Given the description of an element on the screen output the (x, y) to click on. 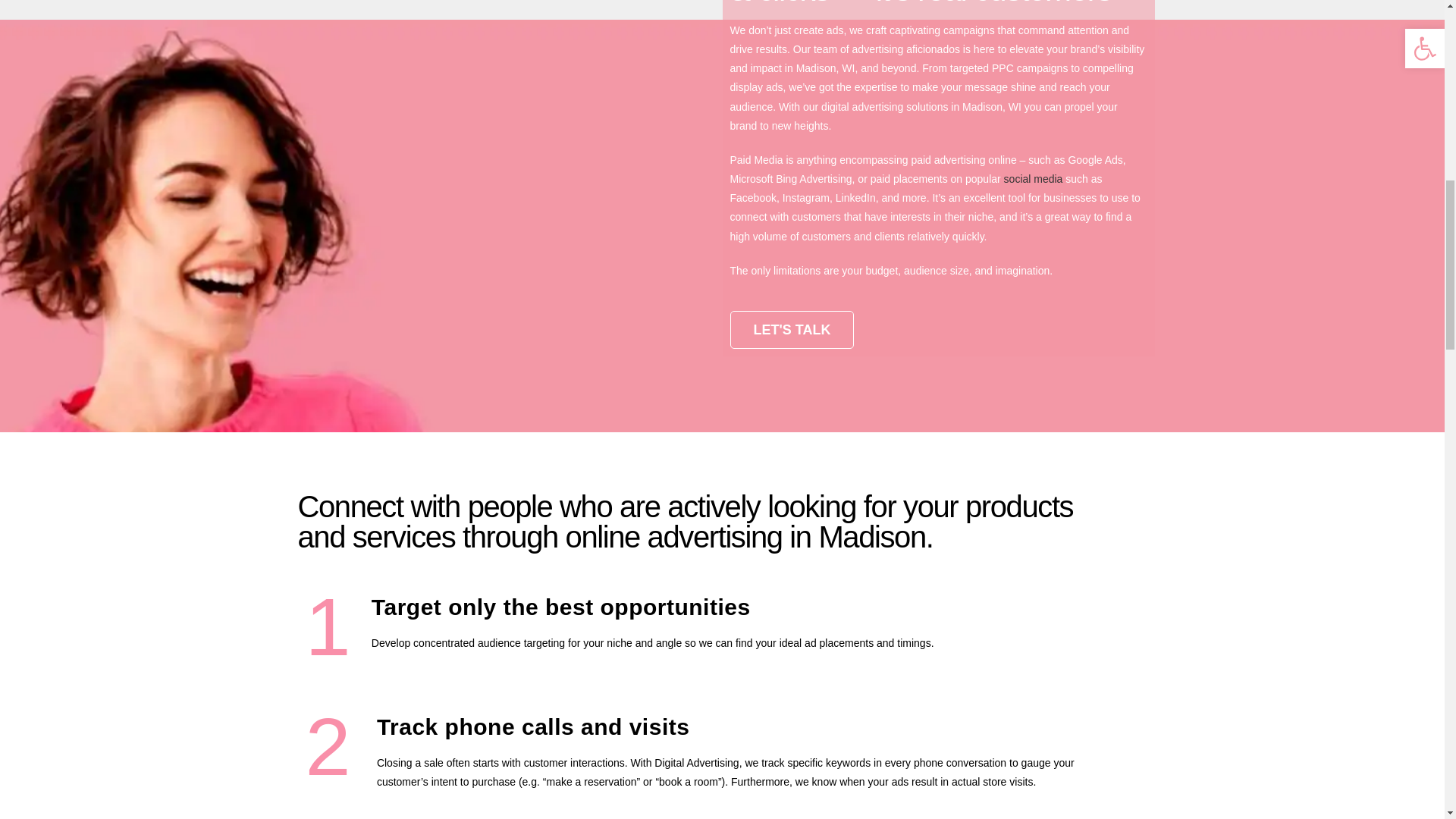
social media (1033, 178)
LET'S TALK (791, 329)
